Given the description of an element on the screen output the (x, y) to click on. 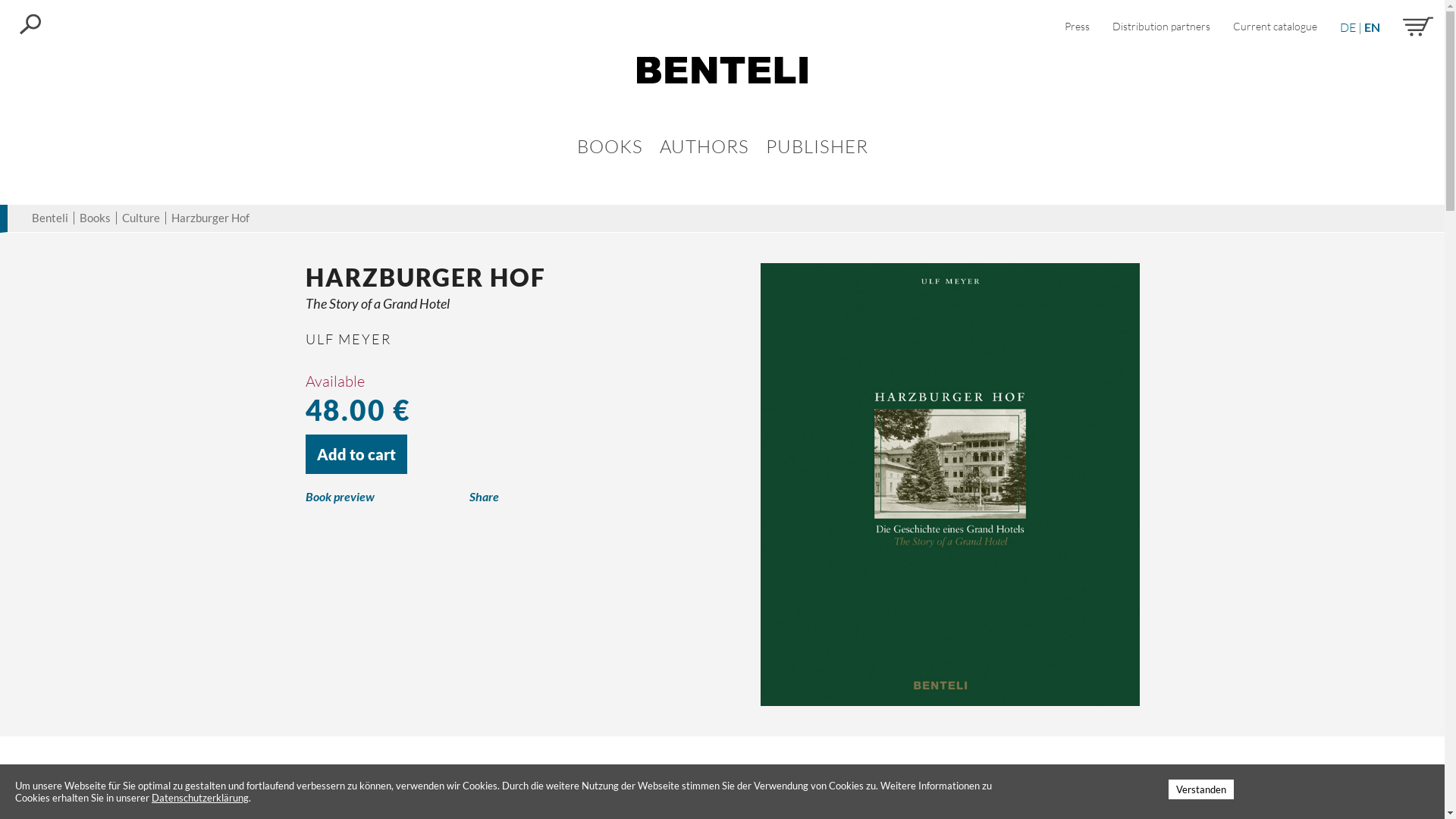
AUTHORS Element type: text (704, 145)
Add to cart Element type: text (355, 454)
EN Element type: text (1372, 26)
Benteli Element type: text (49, 217)
DE Element type: text (1347, 26)
Culture Element type: text (141, 217)
PUBLISHER Element type: text (816, 145)
Verstanden Element type: text (1200, 789)
Search Element type: text (30, 22)
BOOKS Element type: text (609, 145)
Books Element type: text (94, 217)
Book preview Element type: text (386, 496)
